Given the description of an element on the screen output the (x, y) to click on. 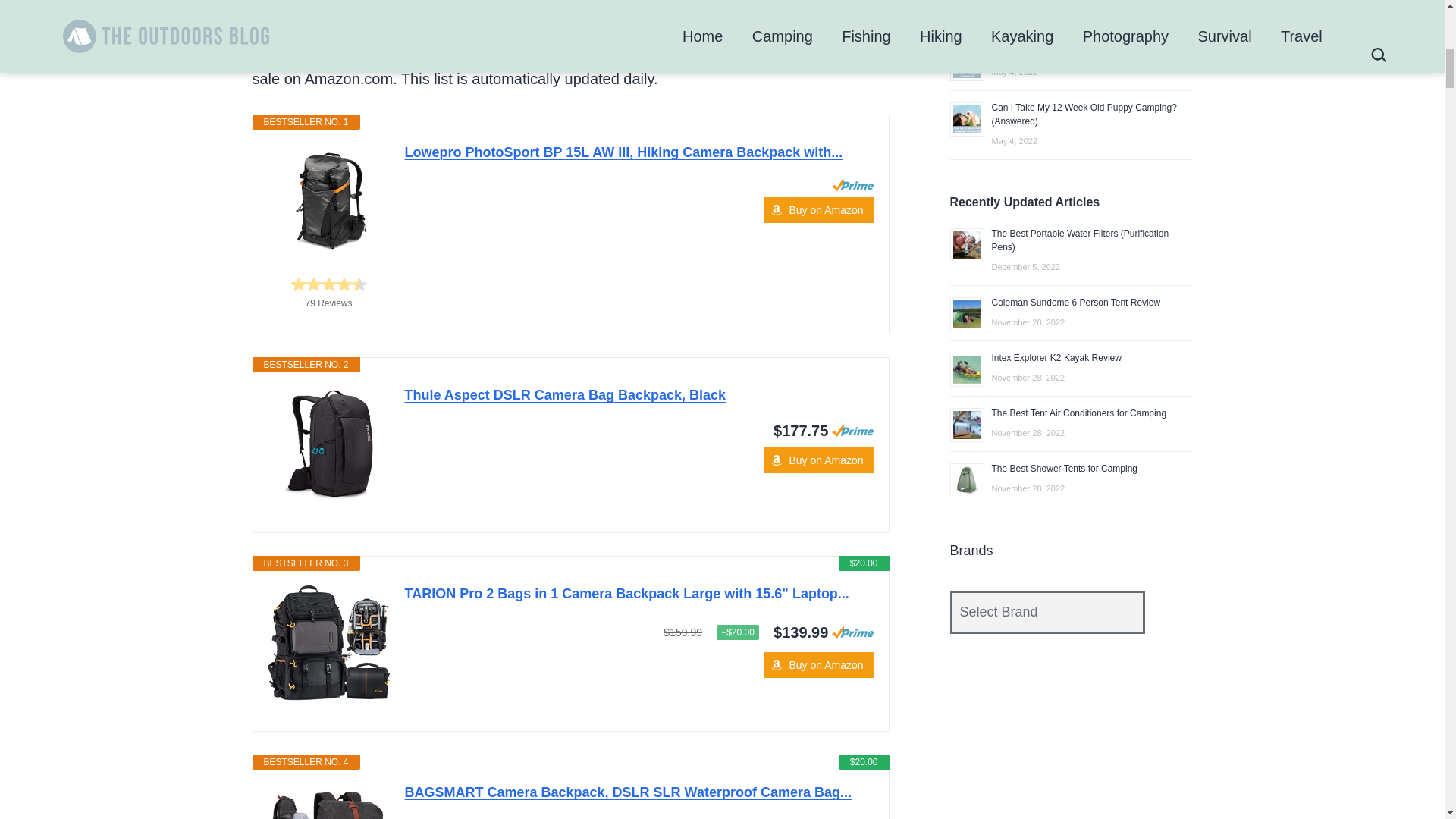
Thule Aspect DSLR Camera Bag Backpack, Black (328, 445)
Buy on Amazon (817, 664)
Amazon Prime (851, 430)
Buy on Amazon (817, 460)
Buy on Amazon (817, 209)
BAGSMART Camera Backpack, DSLR SLR Waterproof Camera Bag... (328, 800)
Buy on Amazon (817, 460)
Amazon Prime (851, 184)
Thule Aspect DSLR Camera Bag Backpack, Black (638, 395)
BAGSMART Camera Backpack, DSLR SLR Waterproof Camera Bag... (638, 792)
Reviews on Amazon (328, 283)
